Given the description of an element on the screen output the (x, y) to click on. 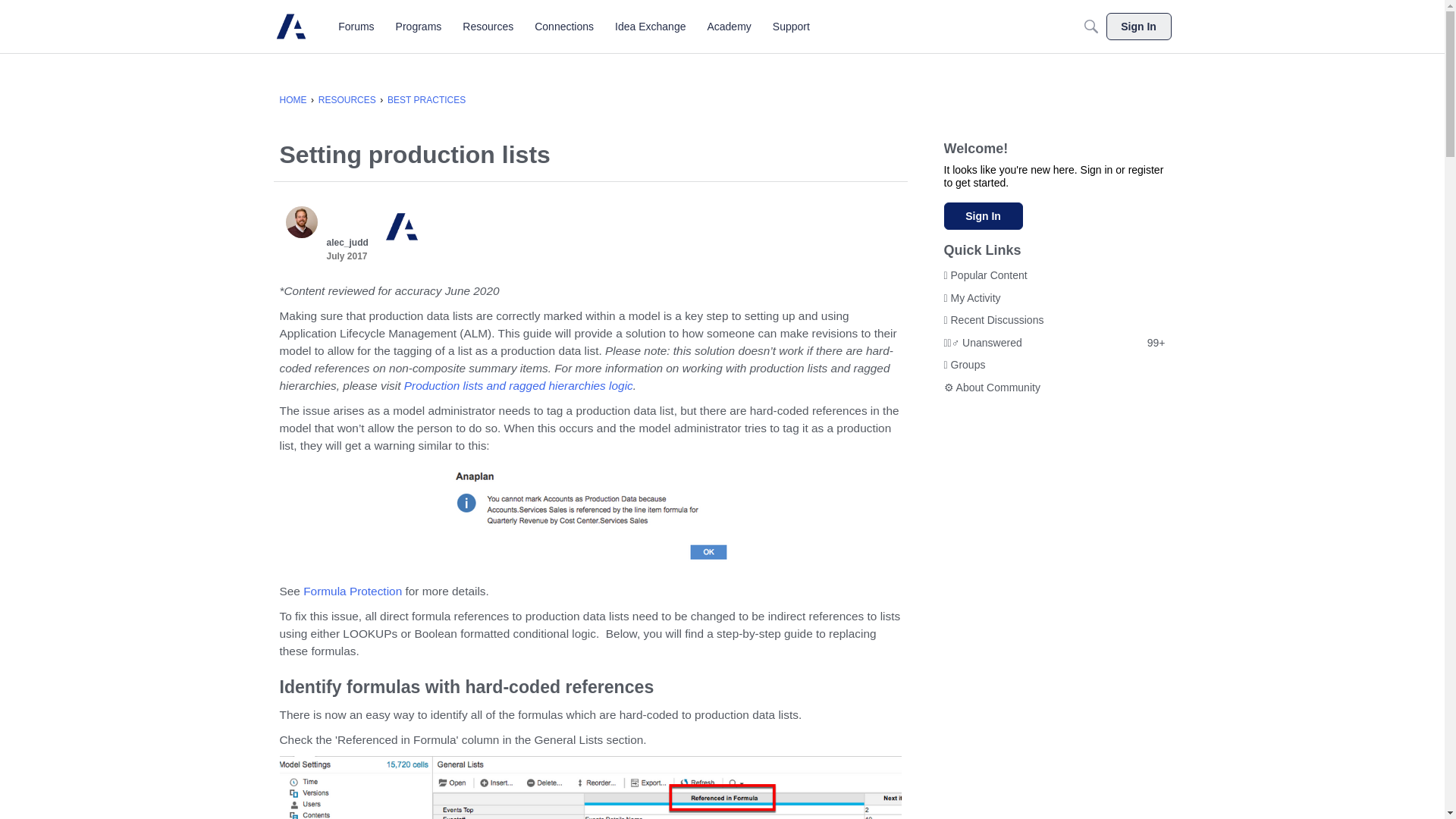
July 2017 (346, 255)
BEST PRACTICES (426, 100)
Academy (728, 26)
Idea Exchange (649, 26)
Resources (488, 26)
Sign In (982, 215)
Connections (563, 26)
Formula Protection (351, 590)
RESOURCES (346, 100)
Programs (419, 26)
